Given the description of an element on the screen output the (x, y) to click on. 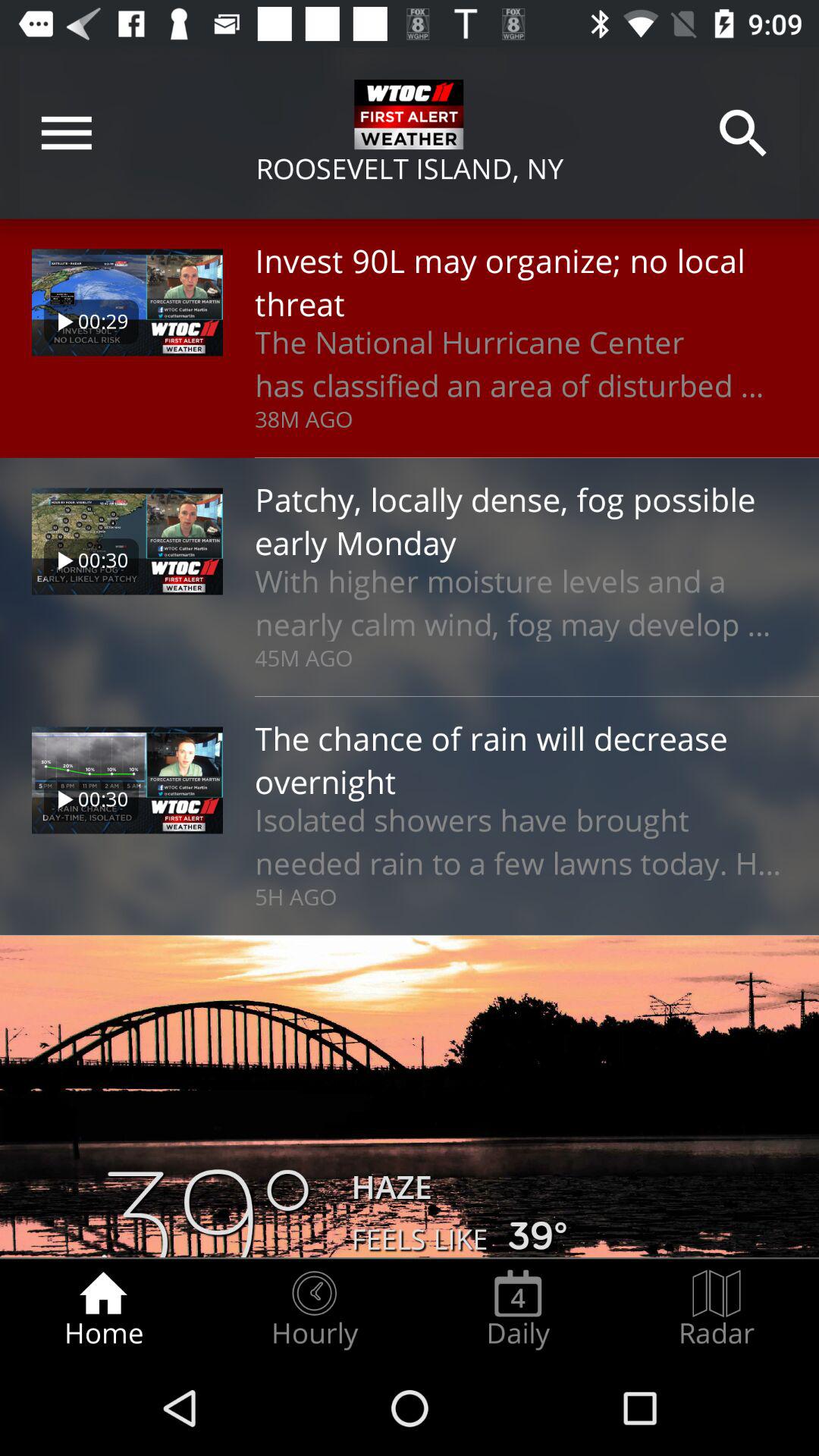
click the icon next to home item (314, 1309)
